Given the description of an element on the screen output the (x, y) to click on. 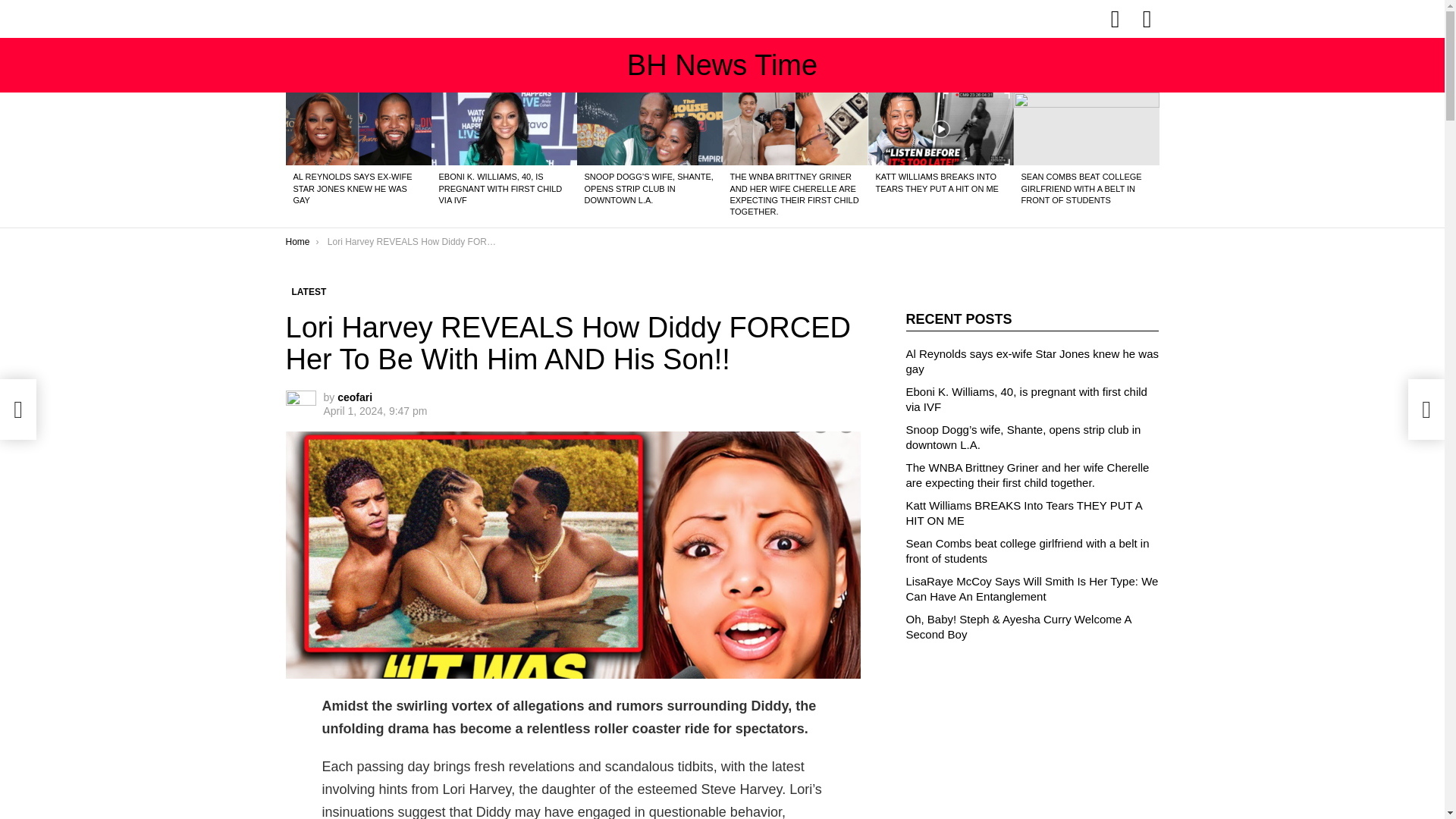
EBONI K. WILLIAMS, 40, IS PREGNANT WITH FIRST CHILD VIA IVF (500, 187)
BH News Time (721, 65)
Al Reynolds says ex-wife Star Jones knew he was gay (357, 128)
ceofari (354, 397)
Home (296, 241)
Eboni K. Williams, 40, is pregnant with first child via IVF (503, 128)
KATT WILLIAMS BREAKS INTO TEARS THEY PUT A HIT ON ME (936, 181)
LATEST (308, 291)
AL REYNOLDS SAYS EX-WIFE STAR JONES KNEW HE WAS GAY (352, 187)
Posts by ceofari (354, 397)
Katt Williams BREAKS Into Tears   THEY PUT A HIT ON ME (940, 128)
